Given the description of an element on the screen output the (x, y) to click on. 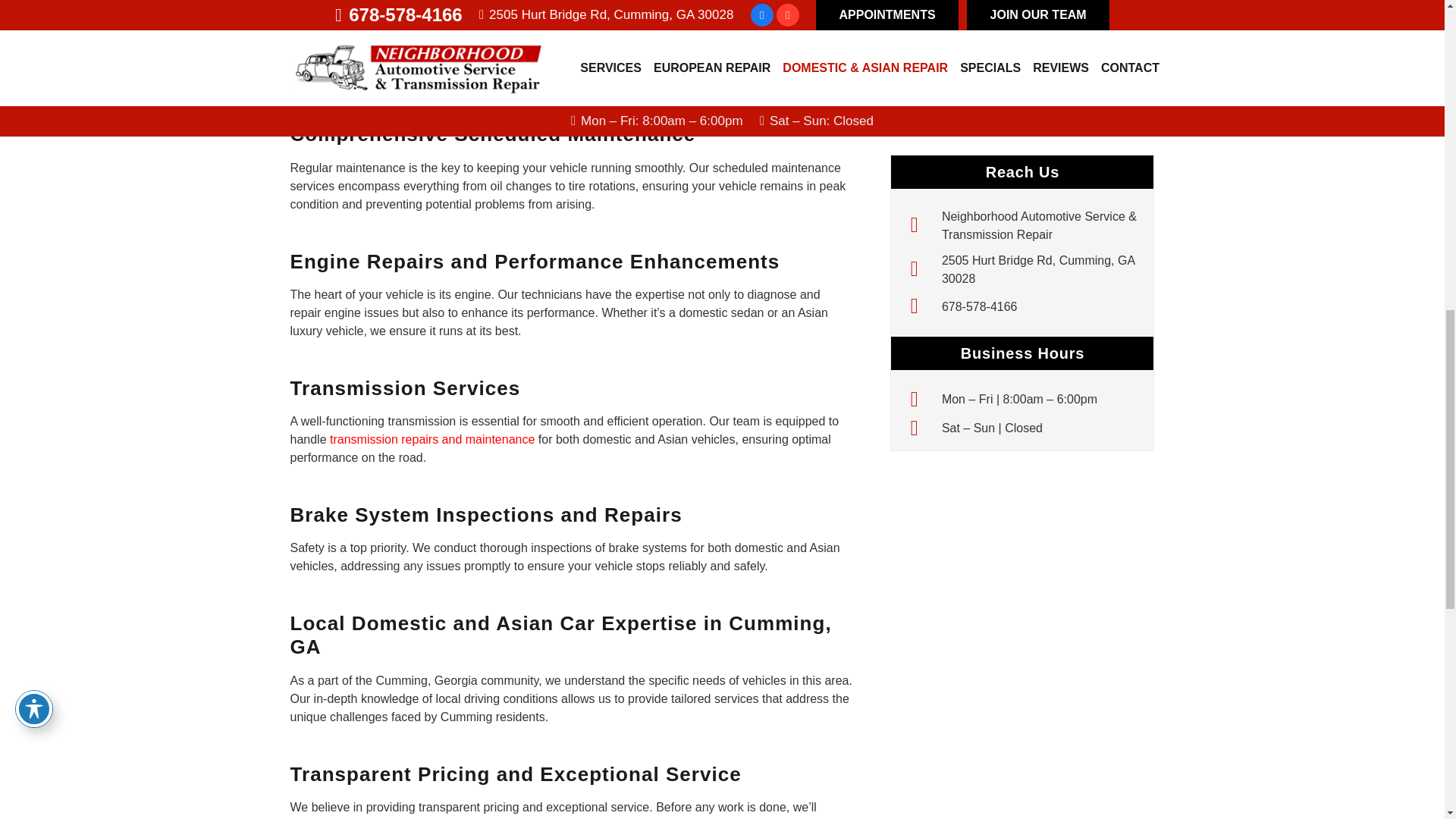
Back to top (1413, 26)
